Given the description of an element on the screen output the (x, y) to click on. 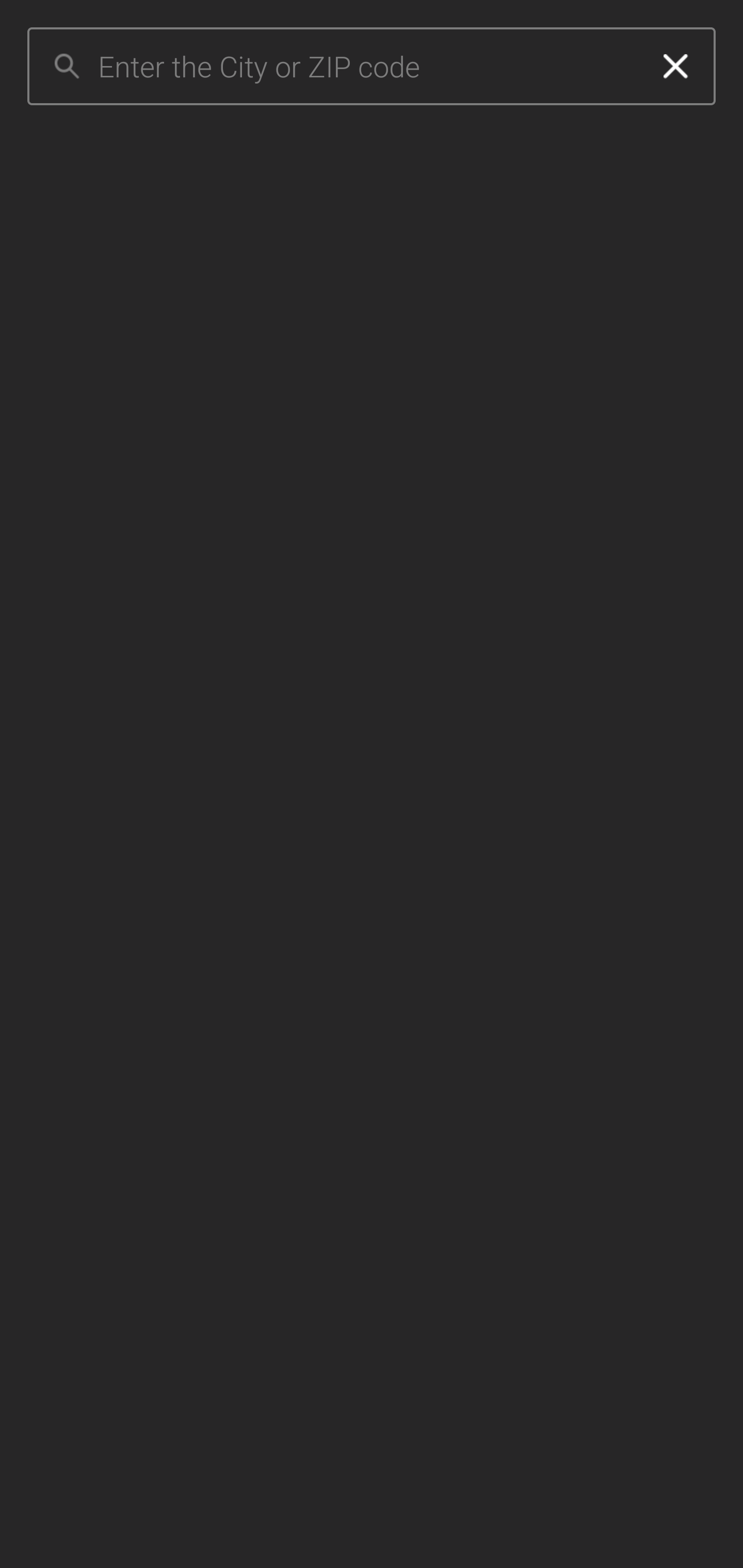
Enter the City or ZIP code (367, 66)
